Given the description of an element on the screen output the (x, y) to click on. 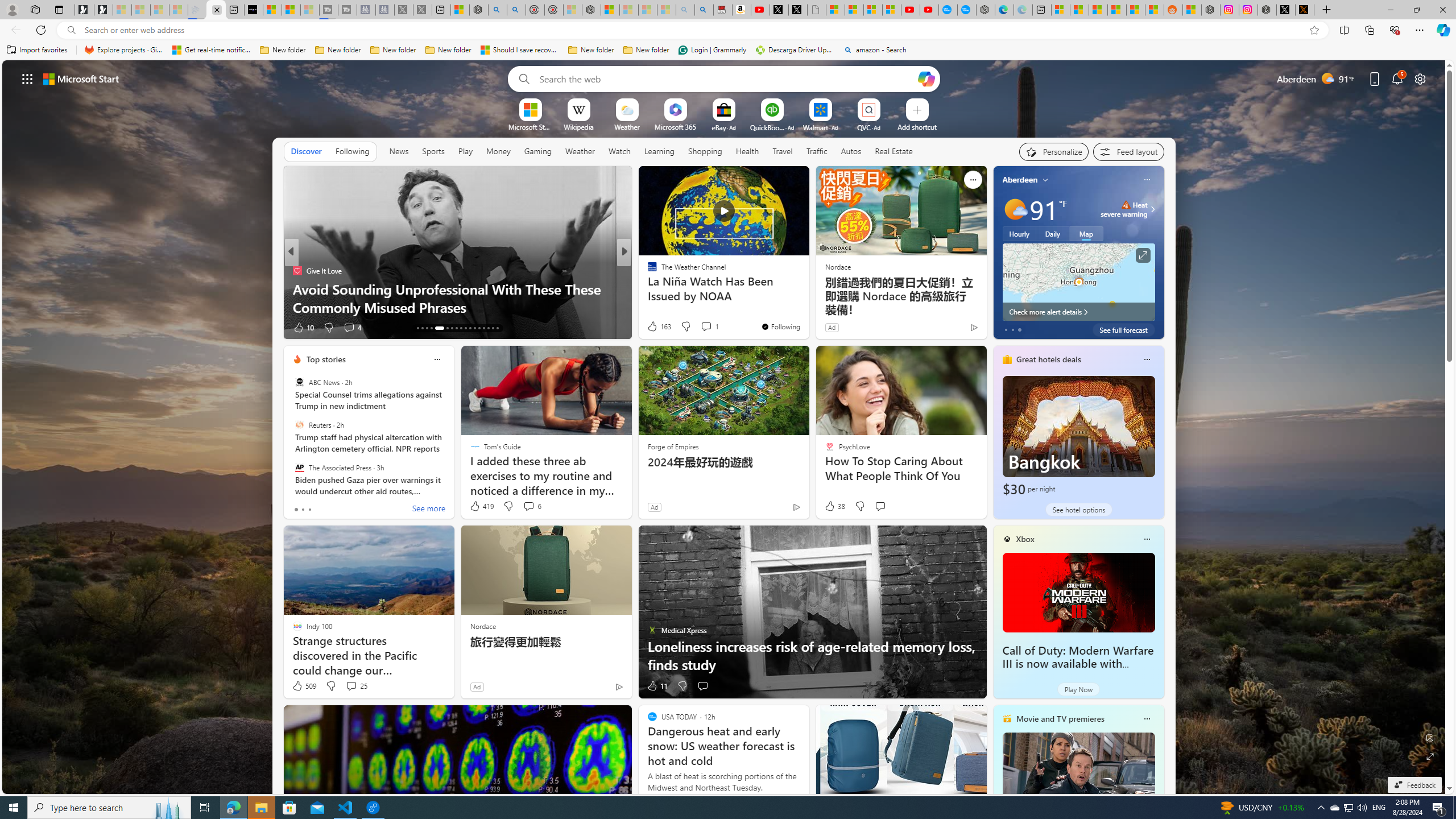
Shanghai, China Weather trends | Microsoft Weather (1154, 9)
Medical Xpress (647, 270)
tab-0 (295, 509)
View comments 12 Comment (6, 327)
Autos (850, 151)
Edit Background (1430, 737)
View comments 6 Comment (532, 505)
Real Estate (893, 151)
